Given the description of an element on the screen output the (x, y) to click on. 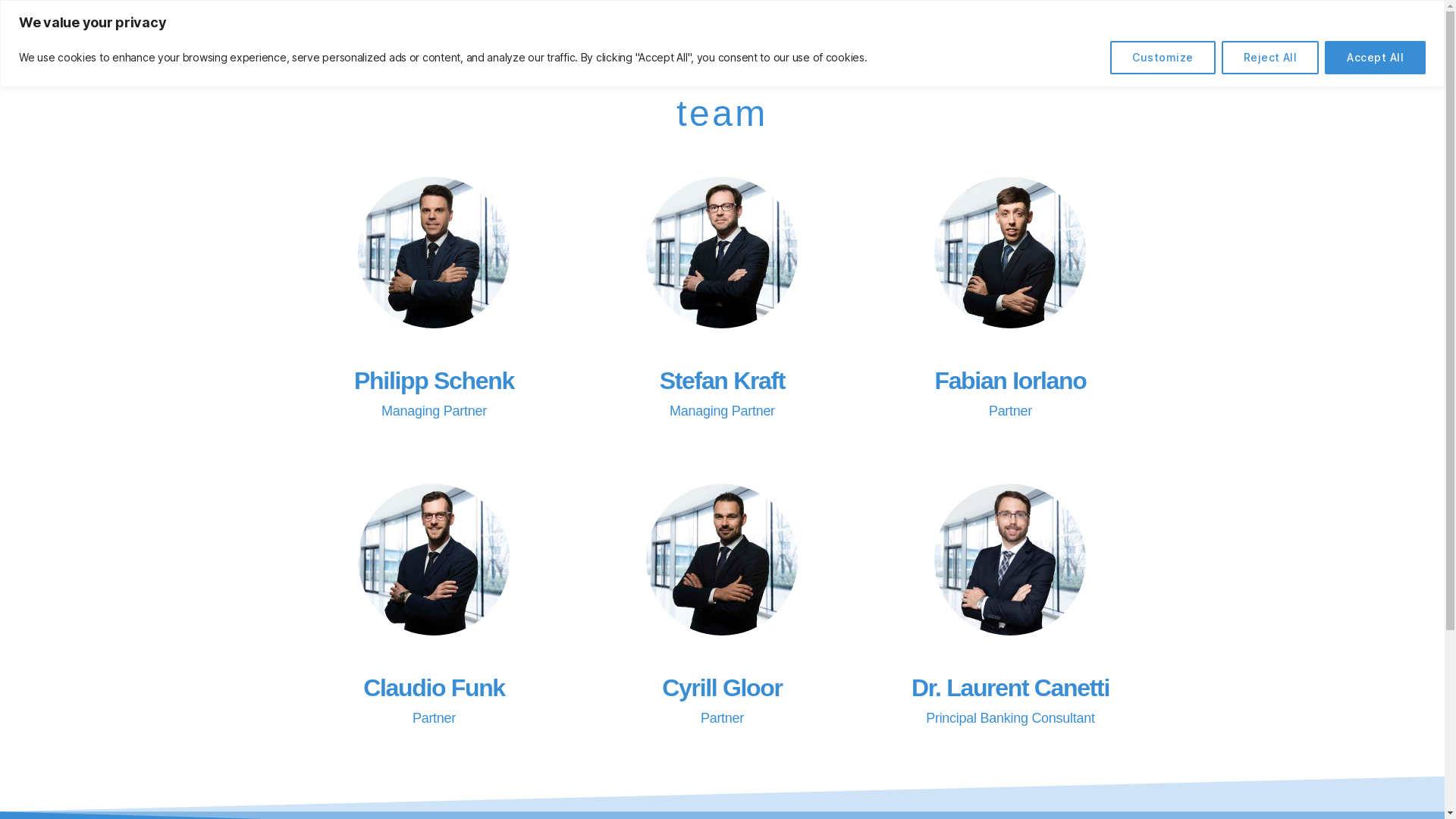
Reject All Element type: text (1270, 57)
projects Element type: text (1138, 36)
Accept All Element type: text (1374, 57)
services Element type: text (1034, 36)
logo Element type: hover (135, 32)
Deutsch Element type: text (1387, 36)
team Element type: text (1224, 36)
Customize Element type: text (1162, 57)
contact Element type: text (1307, 36)
